Given the description of an element on the screen output the (x, y) to click on. 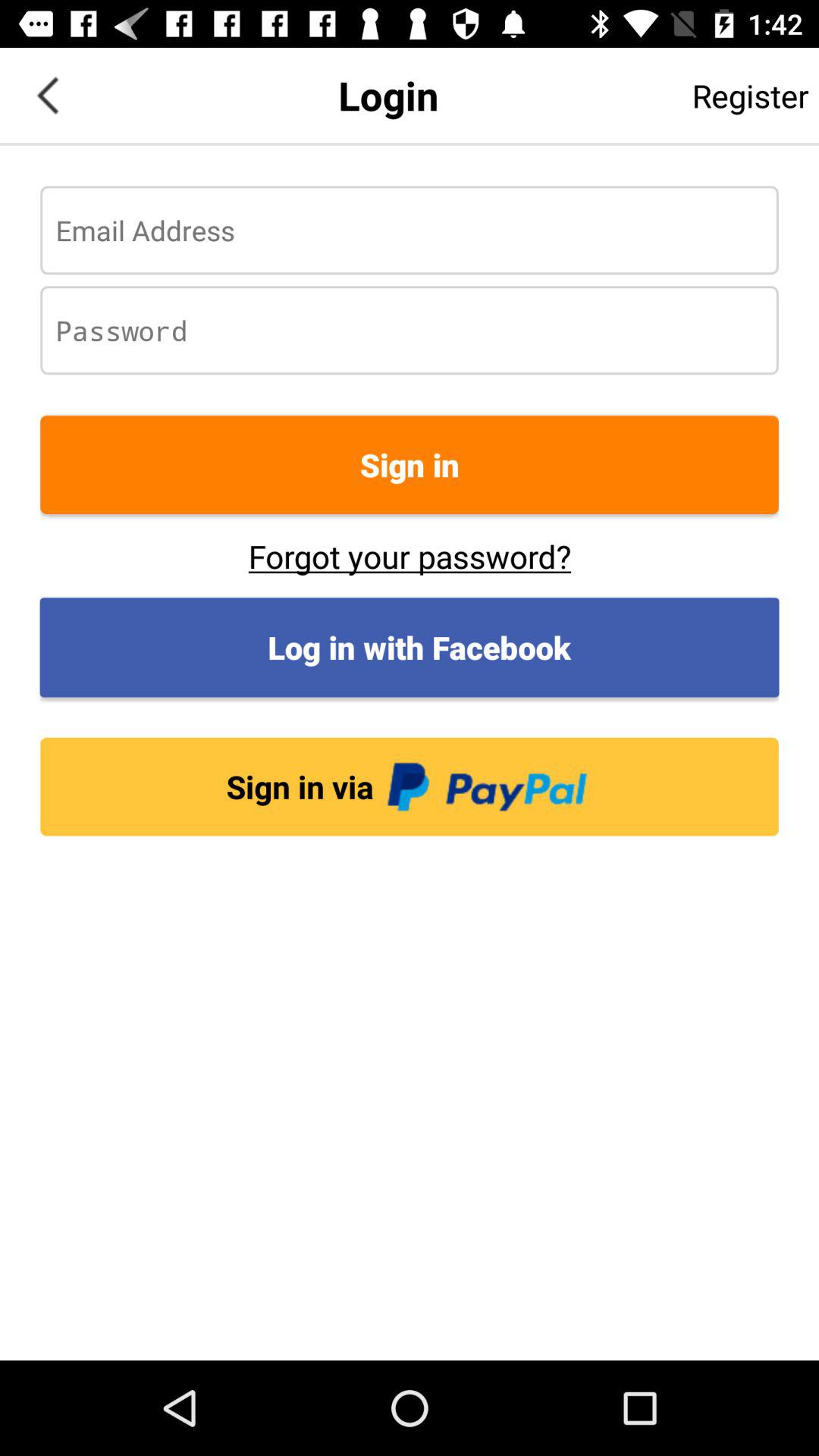
turn off the forgot your password? item (409, 555)
